Given the description of an element on the screen output the (x, y) to click on. 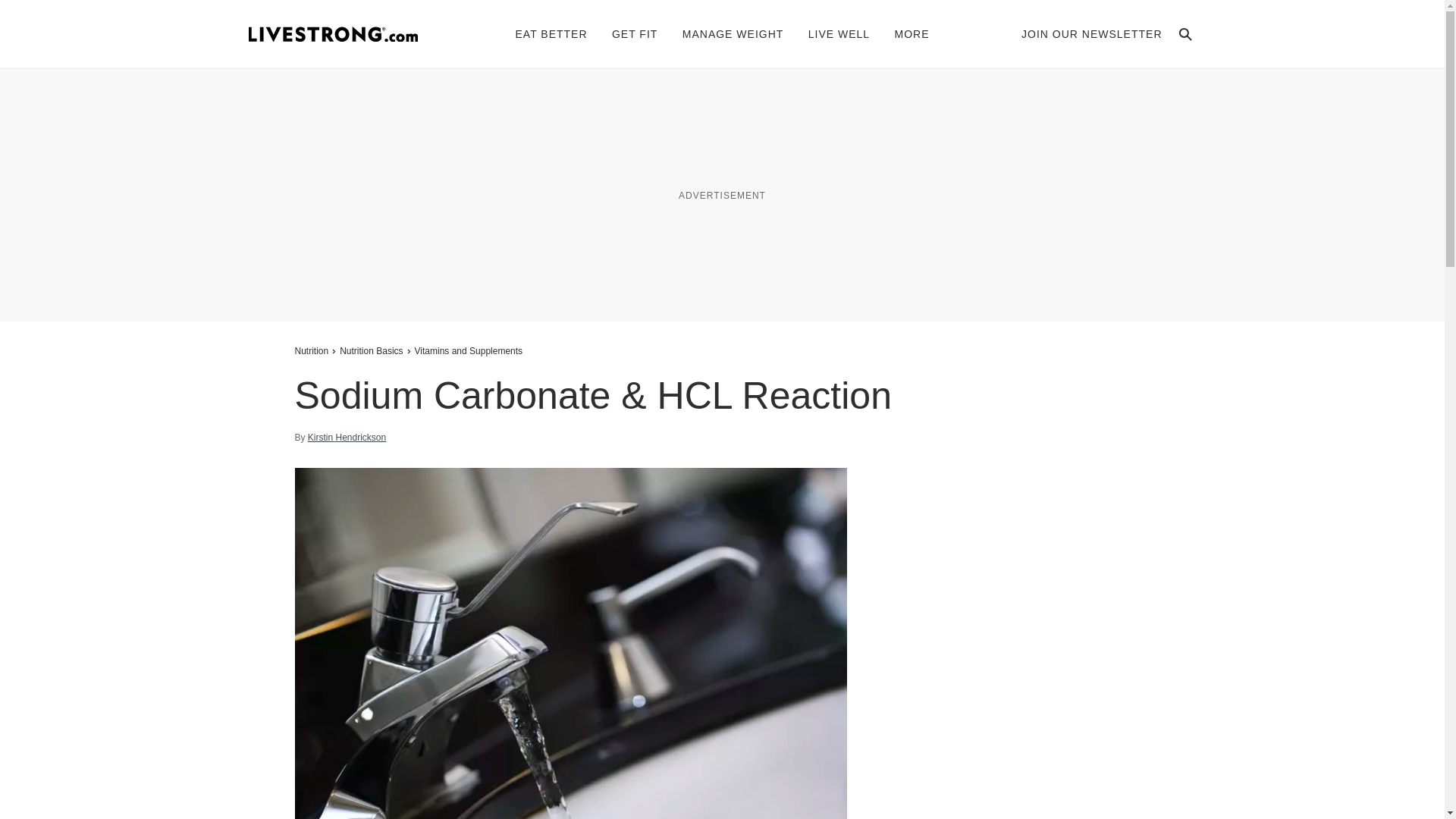
MANAGE WEIGHT (733, 33)
EAT BETTER (551, 33)
GET FIT (634, 33)
JOIN OUR NEWSLETTER (1091, 33)
Nutrition Basics (371, 350)
LIVE WELL (838, 33)
Nutrition (312, 350)
Kirstin Hendrickson (346, 437)
Vitamins and Supplements (468, 350)
